Given the description of an element on the screen output the (x, y) to click on. 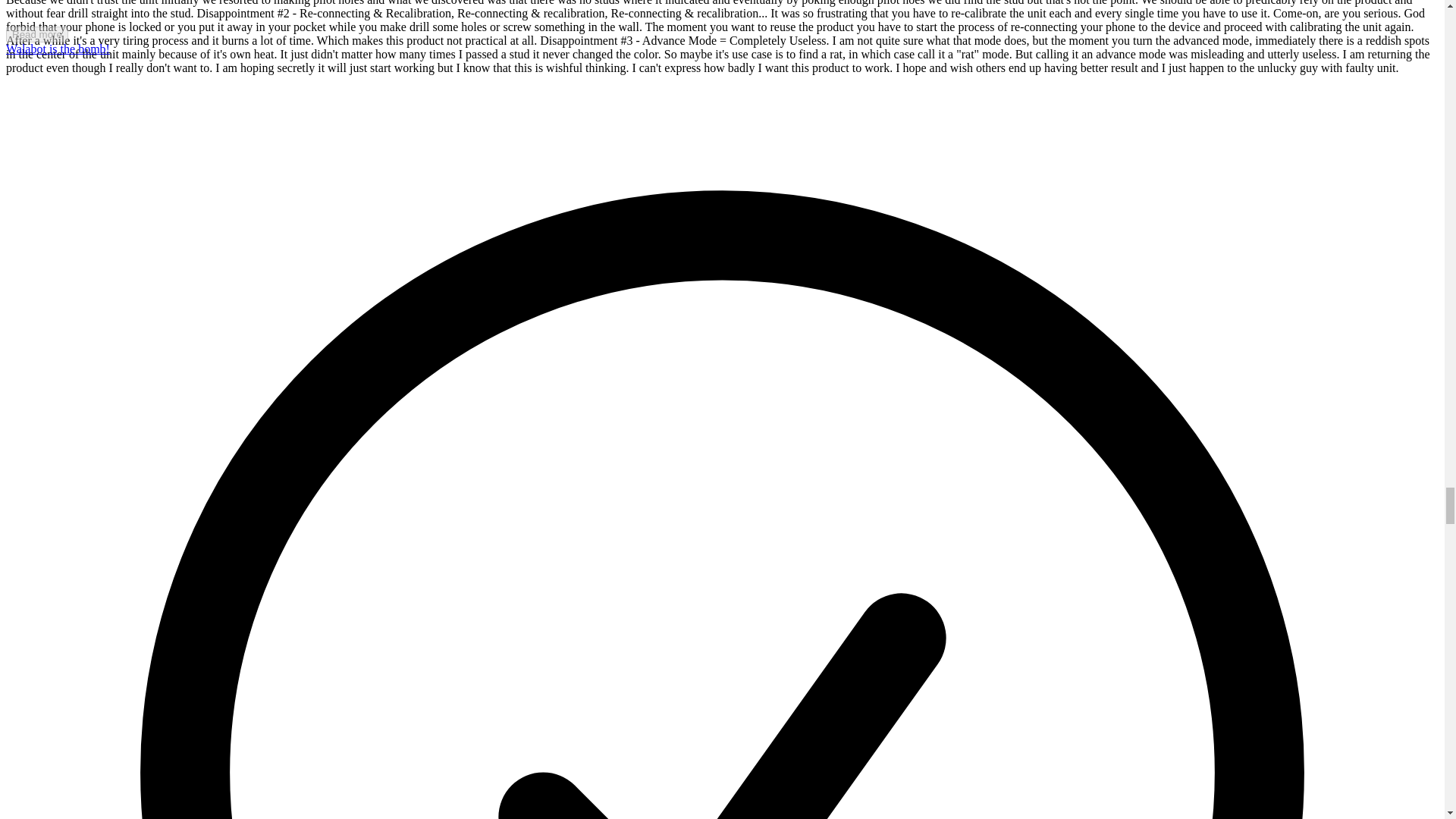
Read more (36, 34)
